Given the description of an element on the screen output the (x, y) to click on. 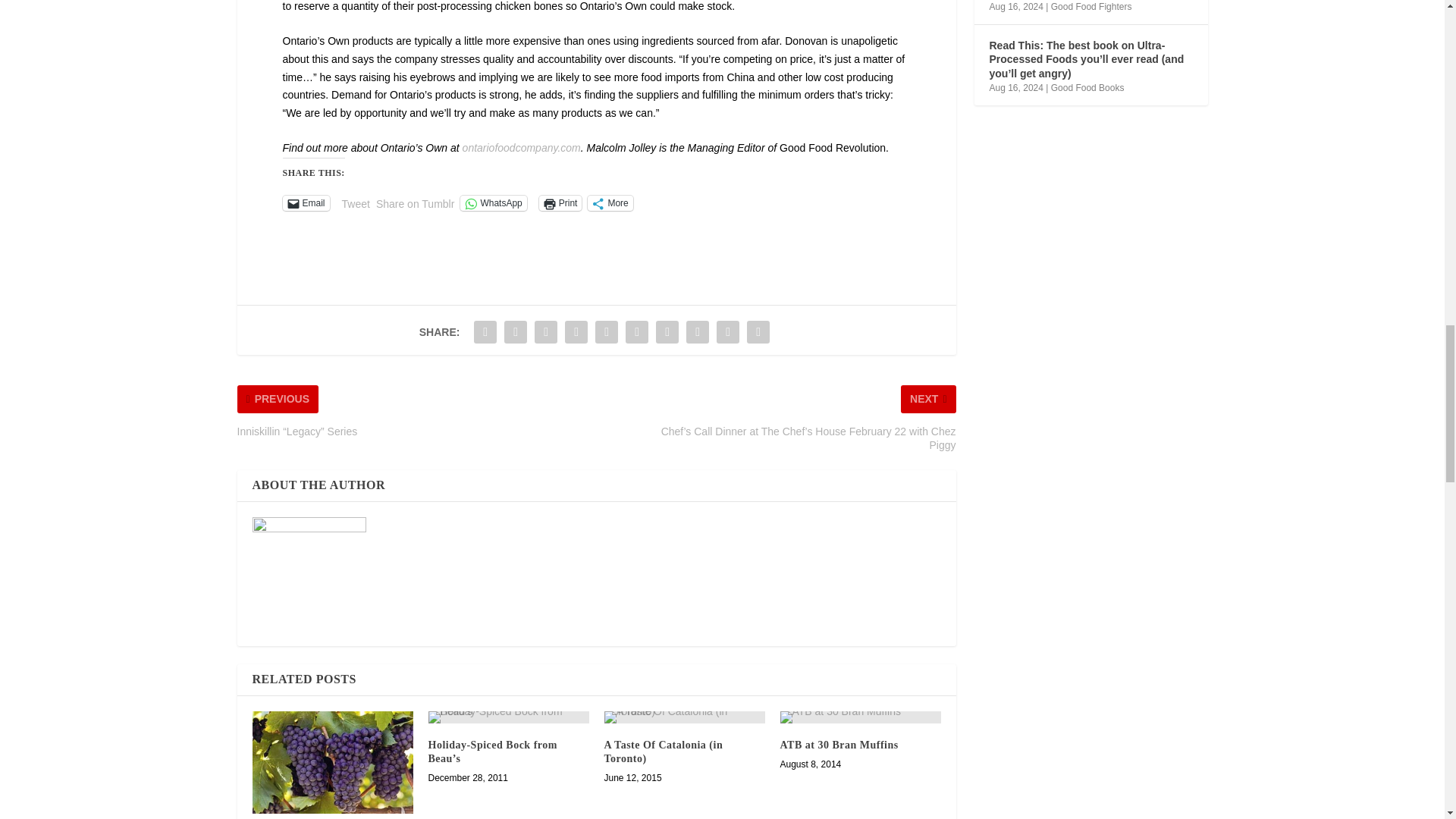
Tweet (355, 202)
Share on Tumblr (414, 202)
ontariofoodcompany.com (521, 147)
Email (305, 202)
Click to share on WhatsApp (492, 202)
Click to email a link to a friend (305, 202)
Click to print (560, 202)
